Given the description of an element on the screen output the (x, y) to click on. 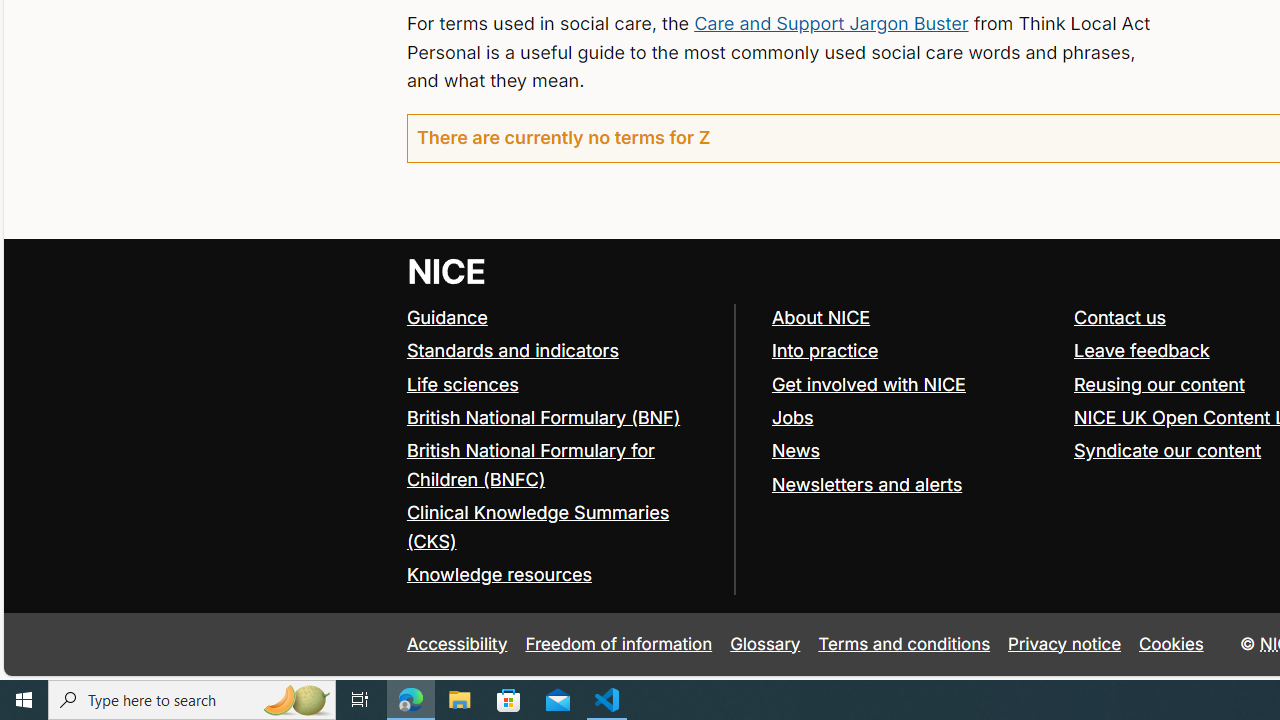
Privacy notice (1065, 644)
Accessibility (456, 644)
Go to NICE home page (445, 270)
Contact us (1120, 317)
British National Formulary for Children (BNFC) (530, 464)
Into practice (824, 350)
Leave feedback (1141, 350)
Jobs (792, 416)
Terms and conditions (903, 644)
Into practice (913, 351)
